Given the description of an element on the screen output the (x, y) to click on. 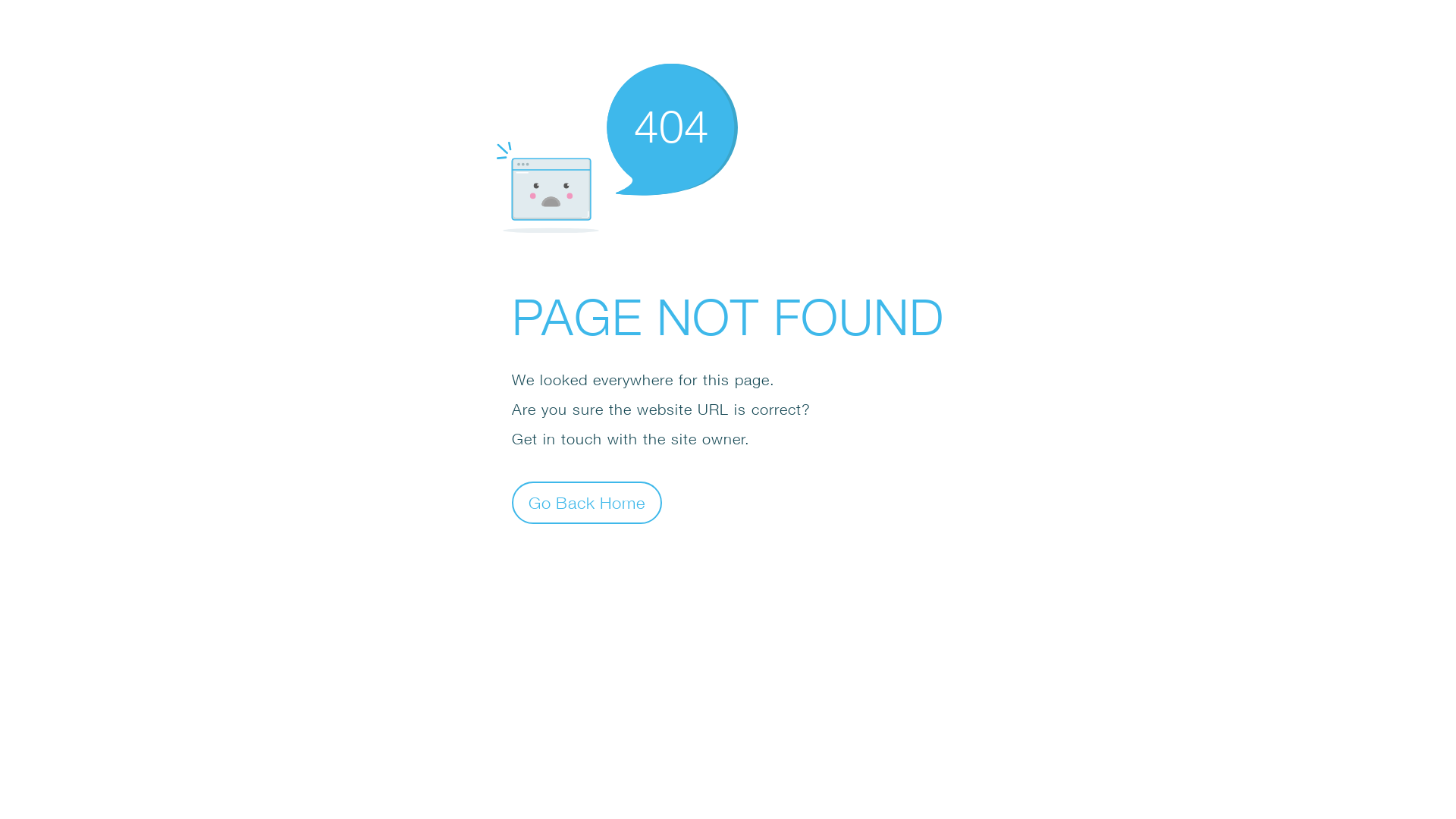
Go Back Home Element type: text (586, 502)
